Given the description of an element on the screen output the (x, y) to click on. 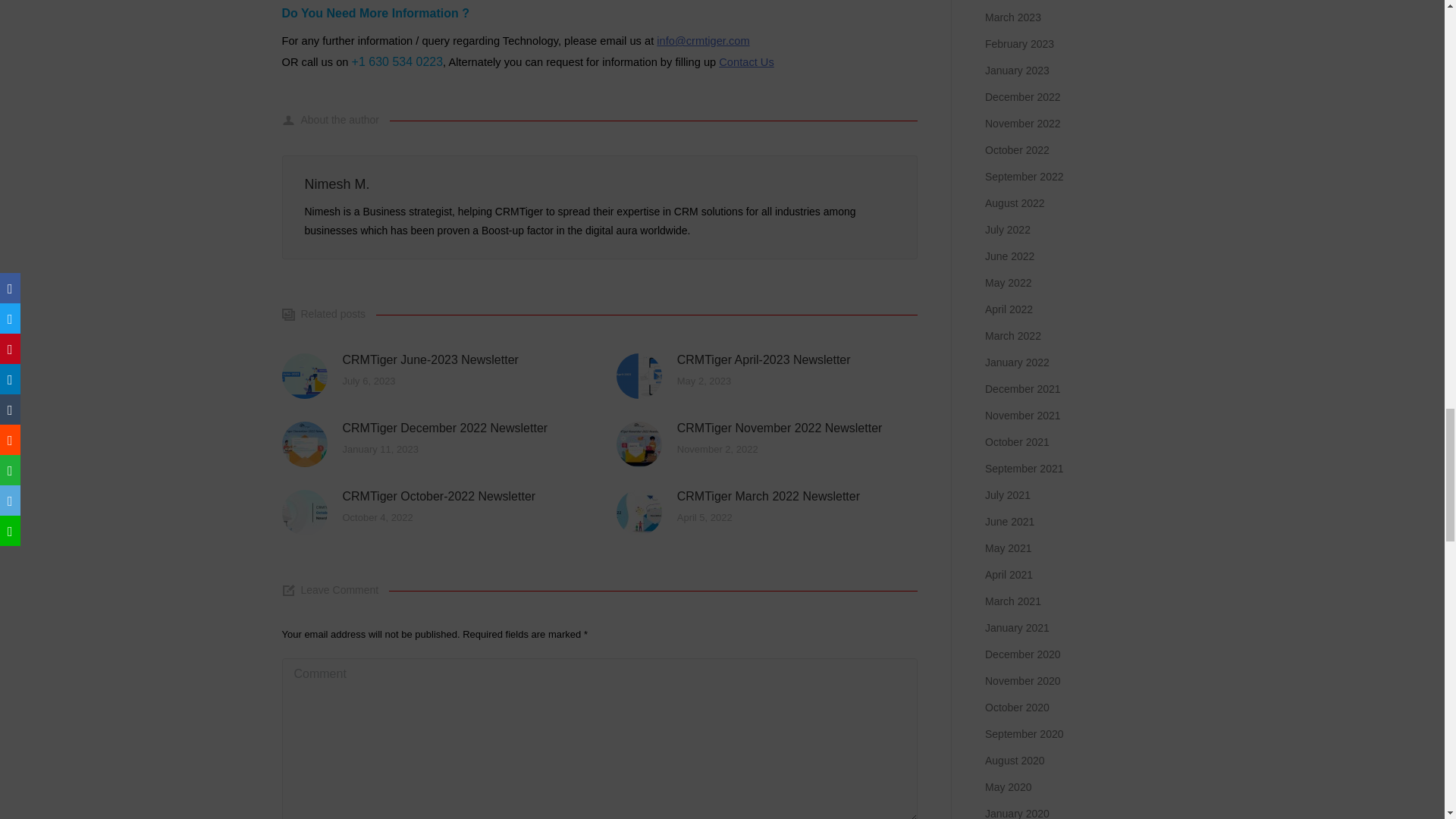
CRMTiger June-2023 Newsletter (430, 359)
CRMTiger December 2022 Newsletter (445, 427)
CRMTiger April-2023 Newsletter (763, 359)
Contact Us (746, 61)
